Given the description of an element on the screen output the (x, y) to click on. 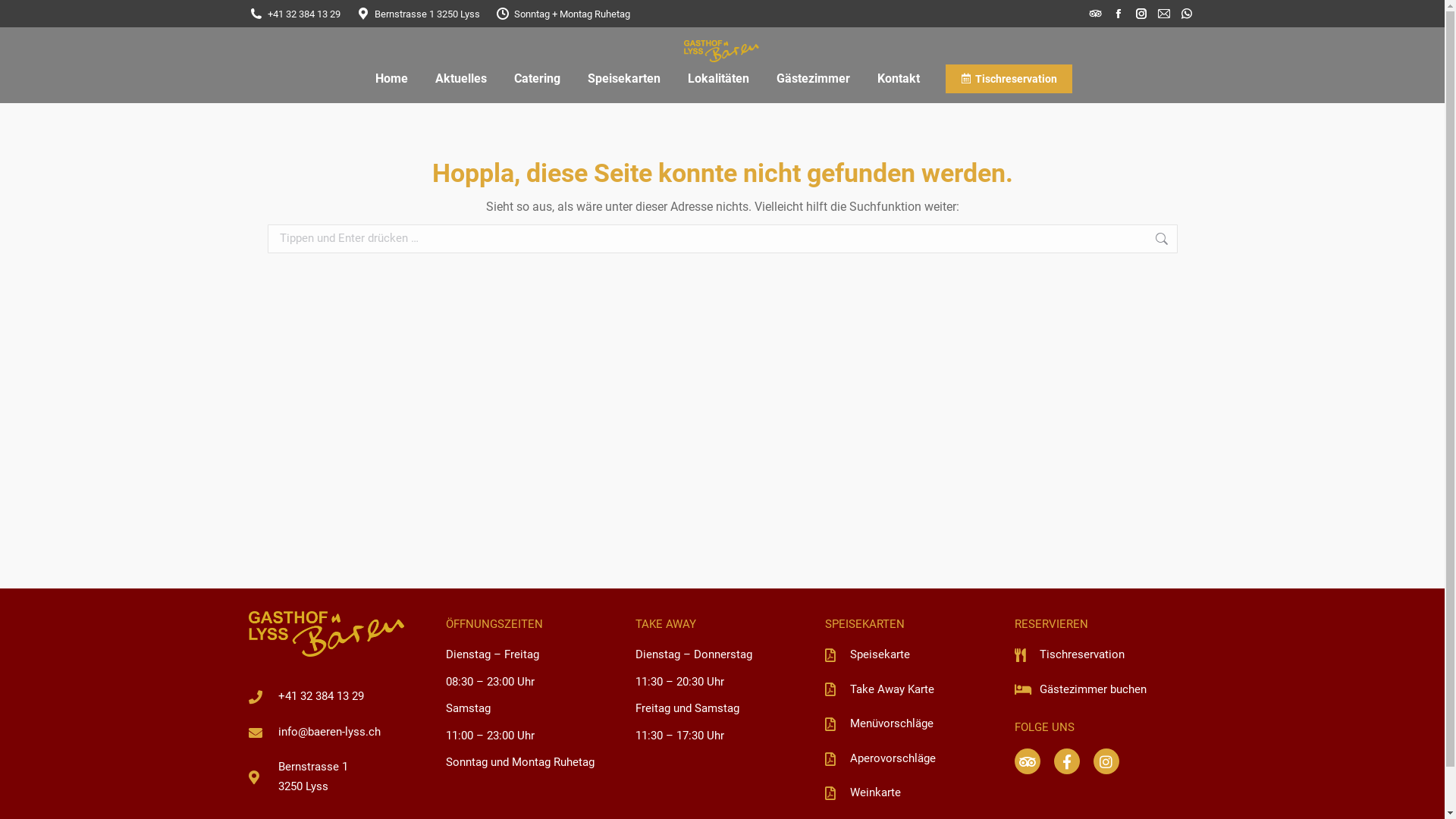
Tischreservation Element type: text (1008, 78)
info@baeren-lyss.ch Element type: text (326, 732)
Tischreservation Element type: text (1101, 655)
Whatsapp page opens in new window Element type: hover (1186, 13)
Home Element type: text (391, 78)
+41 32 384 13 29 Element type: text (326, 696)
Aktuelles Element type: text (460, 78)
Los! Element type: text (1201, 240)
Kontakt Element type: text (898, 78)
E-Mail page opens in new window Element type: hover (1163, 13)
Speisekarten Element type: text (623, 78)
TripAdvisor page opens in new window Element type: hover (1095, 13)
Facebook page opens in new window Element type: hover (1118, 13)
Take Away Karte Element type: text (912, 689)
Catering Element type: text (537, 78)
Speisekarte Element type: text (912, 655)
Weinkarte Element type: text (912, 793)
Instagram page opens in new window Element type: hover (1141, 13)
+41 32 384 13 29 Element type: text (294, 13)
